Given the description of an element on the screen output the (x, y) to click on. 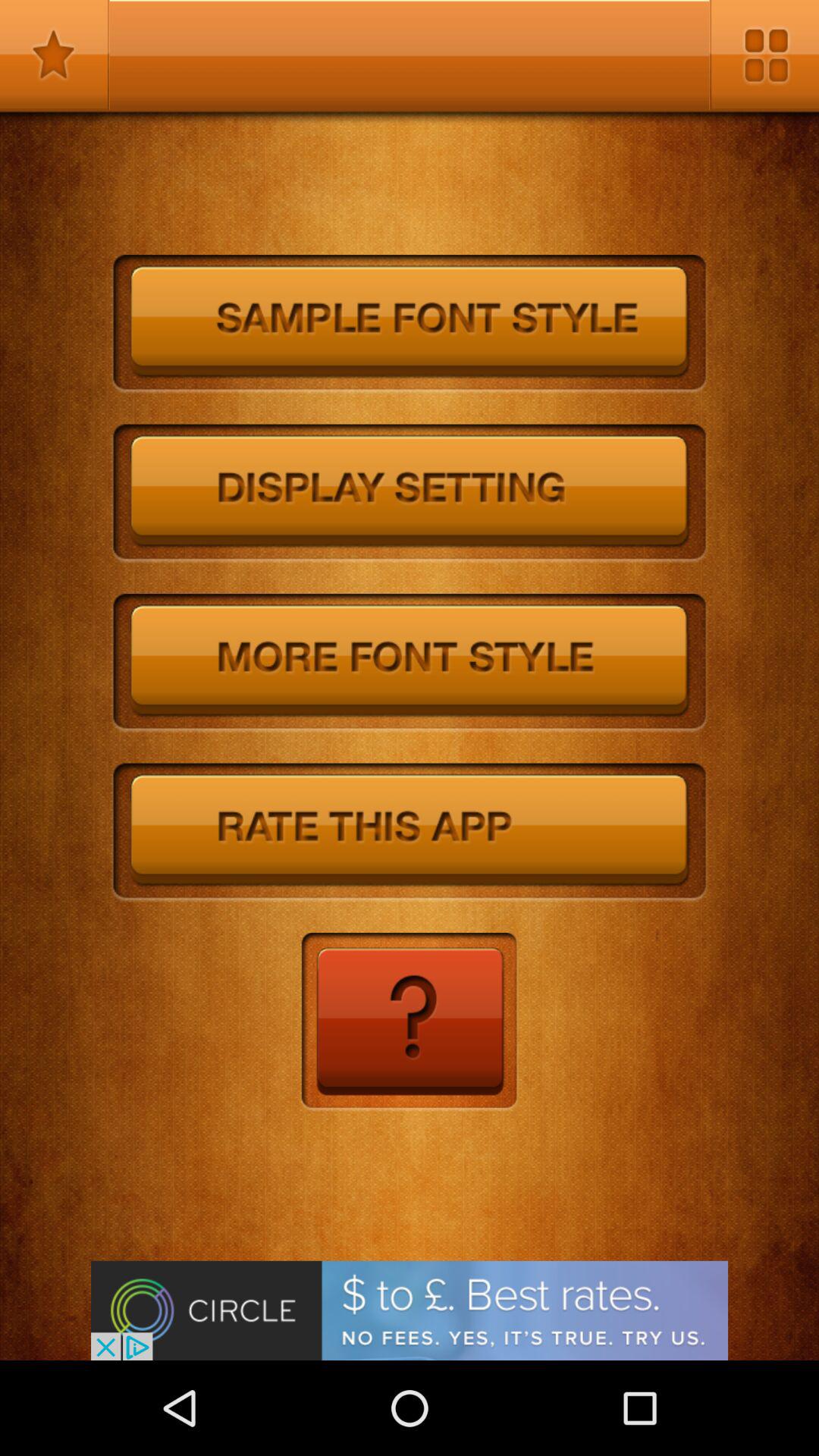
sample font style button (409, 324)
